Given the description of an element on the screen output the (x, y) to click on. 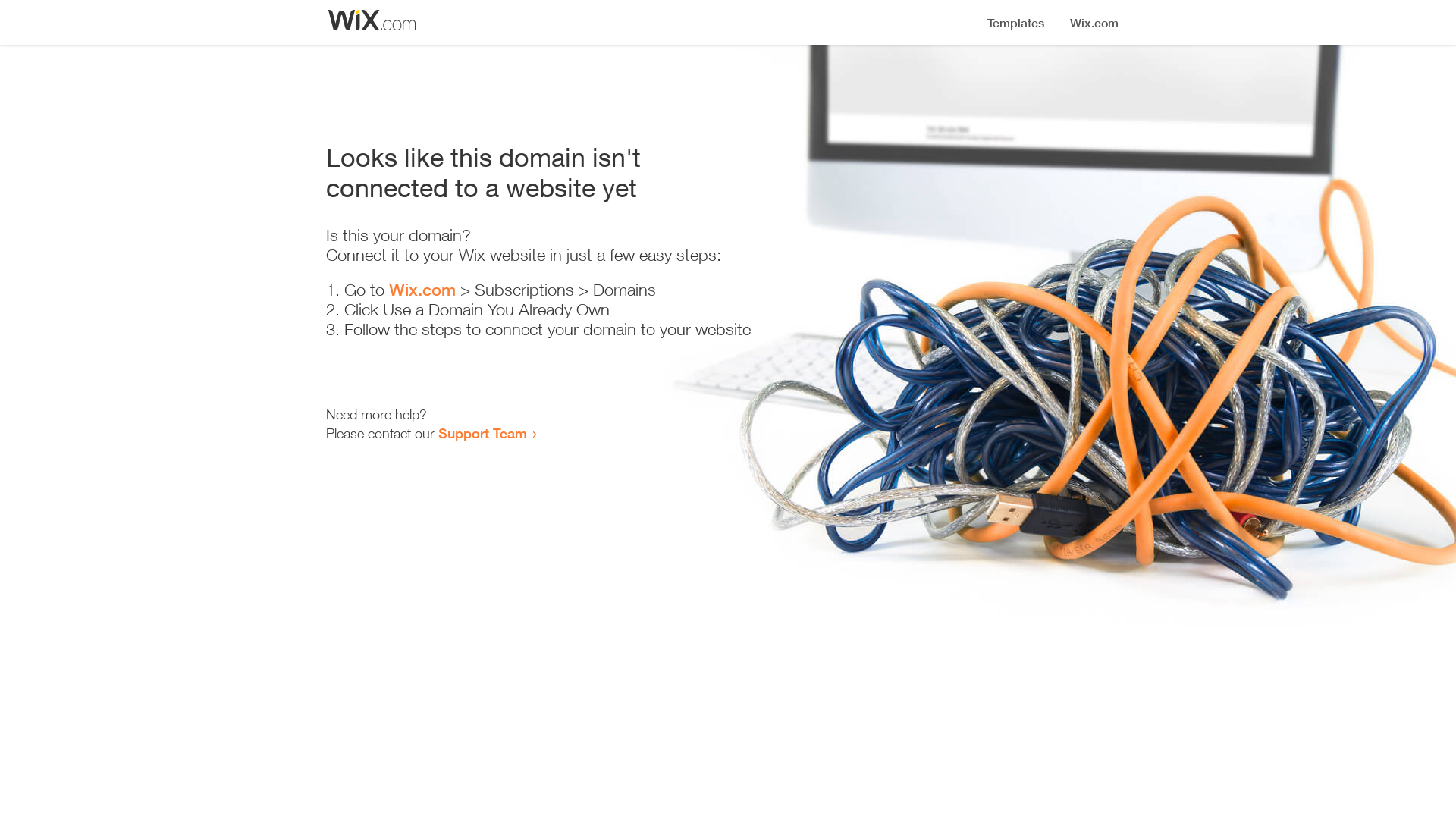
Wix.com Element type: text (422, 289)
Support Team Element type: text (482, 432)
